Given the description of an element on the screen output the (x, y) to click on. 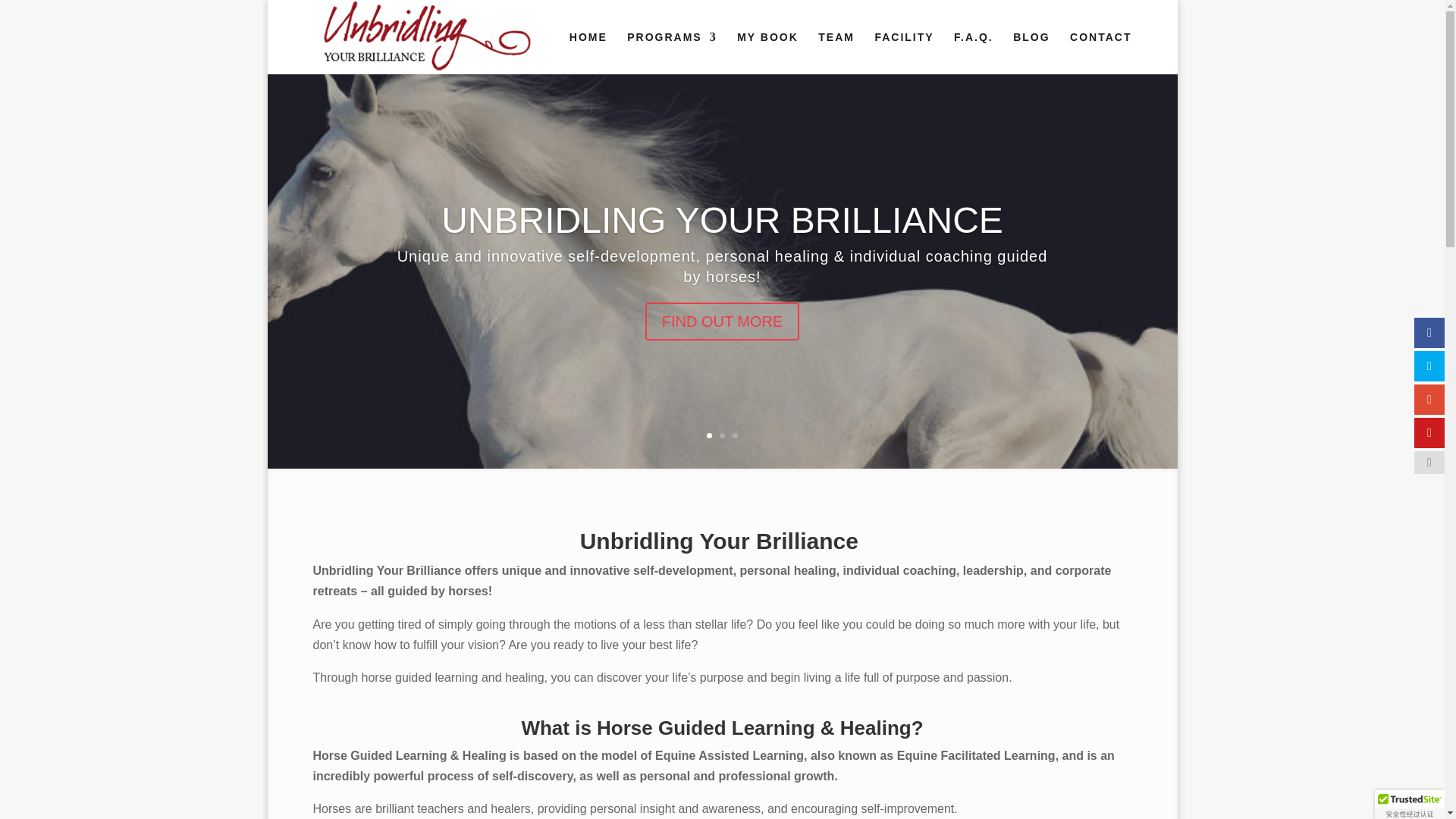
FIND OUT MORE (722, 338)
HOME (588, 52)
FACILITY (904, 52)
UNBRIDLING YOUR BRILLIANCE (722, 241)
PROGRAMS (671, 52)
CONTACT (1100, 52)
MY BOOK (766, 52)
F.A.Q. (972, 52)
